Given the description of an element on the screen output the (x, y) to click on. 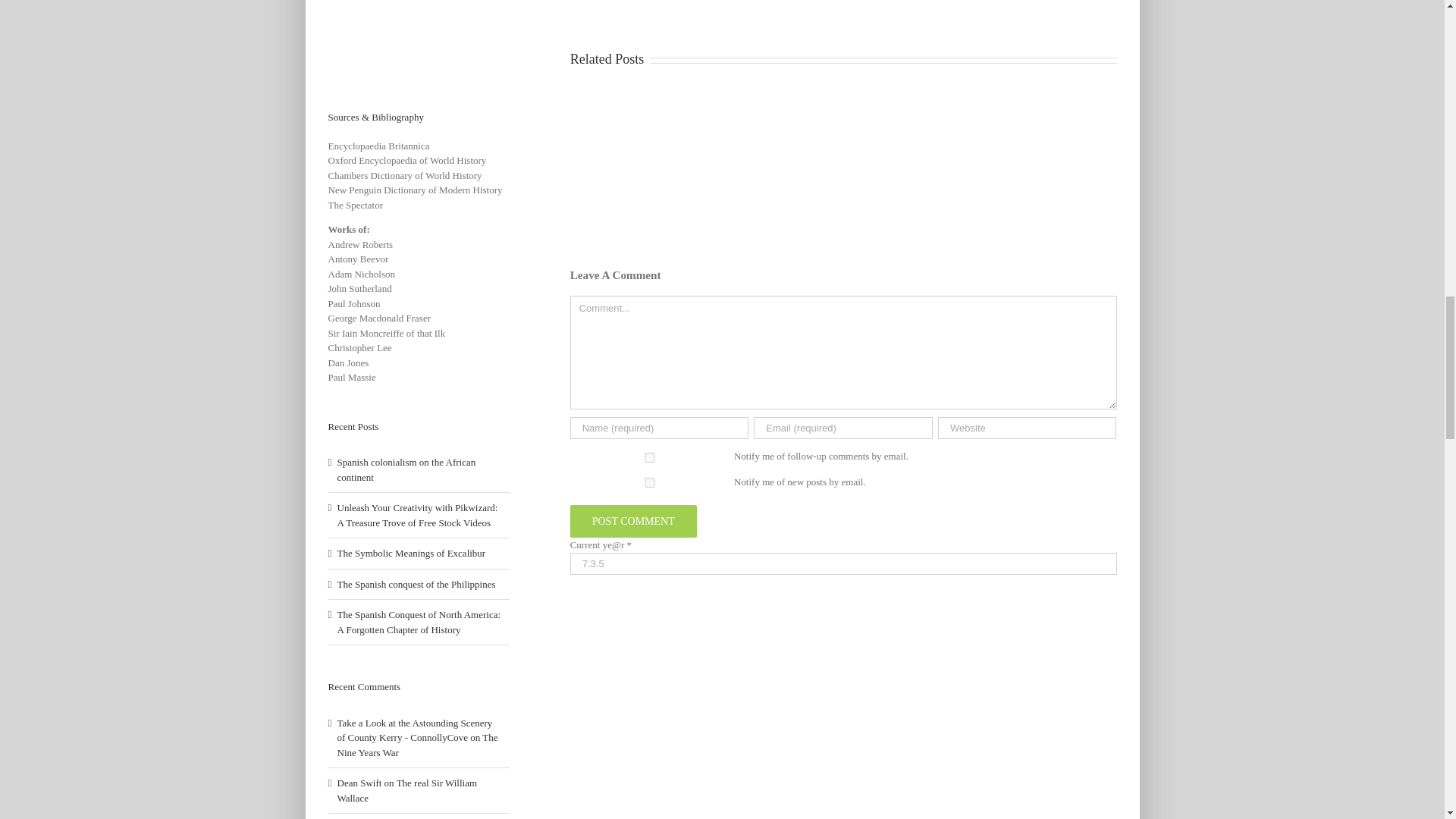
subscribe (649, 482)
Post Comment (633, 521)
subscribe (649, 457)
7.3.5 (843, 563)
